Given the description of an element on the screen output the (x, y) to click on. 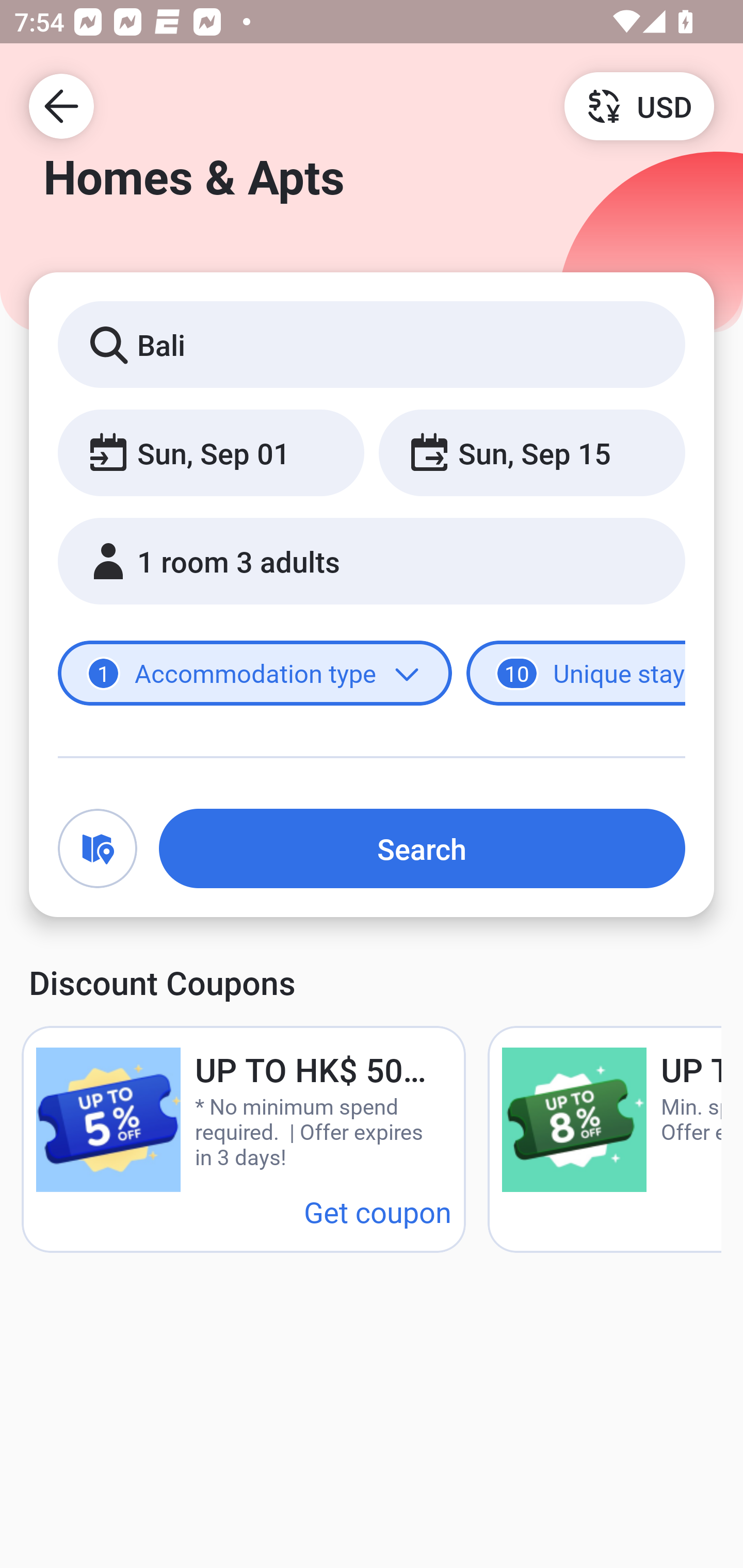
USD (639, 105)
Bali (371, 344)
Sun, Sep 01 (210, 452)
Sun, Sep 15 (531, 452)
1 room 3 adults (371, 561)
1 Accommodation type (254, 673)
10 Unique stays (575, 673)
Search (422, 848)
Get coupon (377, 1211)
